Given the description of an element on the screen output the (x, y) to click on. 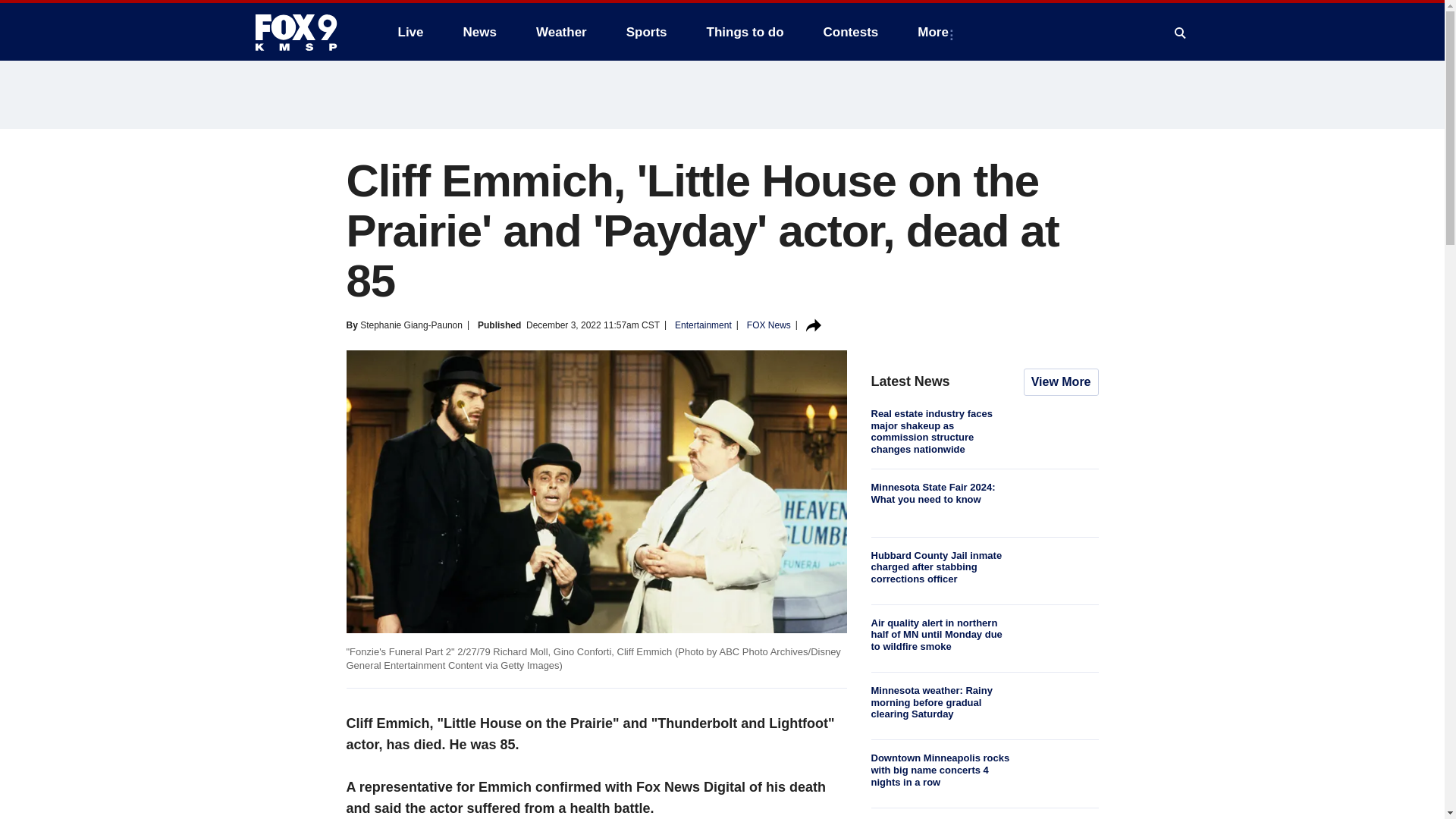
More (935, 32)
News (479, 32)
Live (410, 32)
Weather (561, 32)
Sports (646, 32)
Contests (850, 32)
Things to do (745, 32)
